Given the description of an element on the screen output the (x, y) to click on. 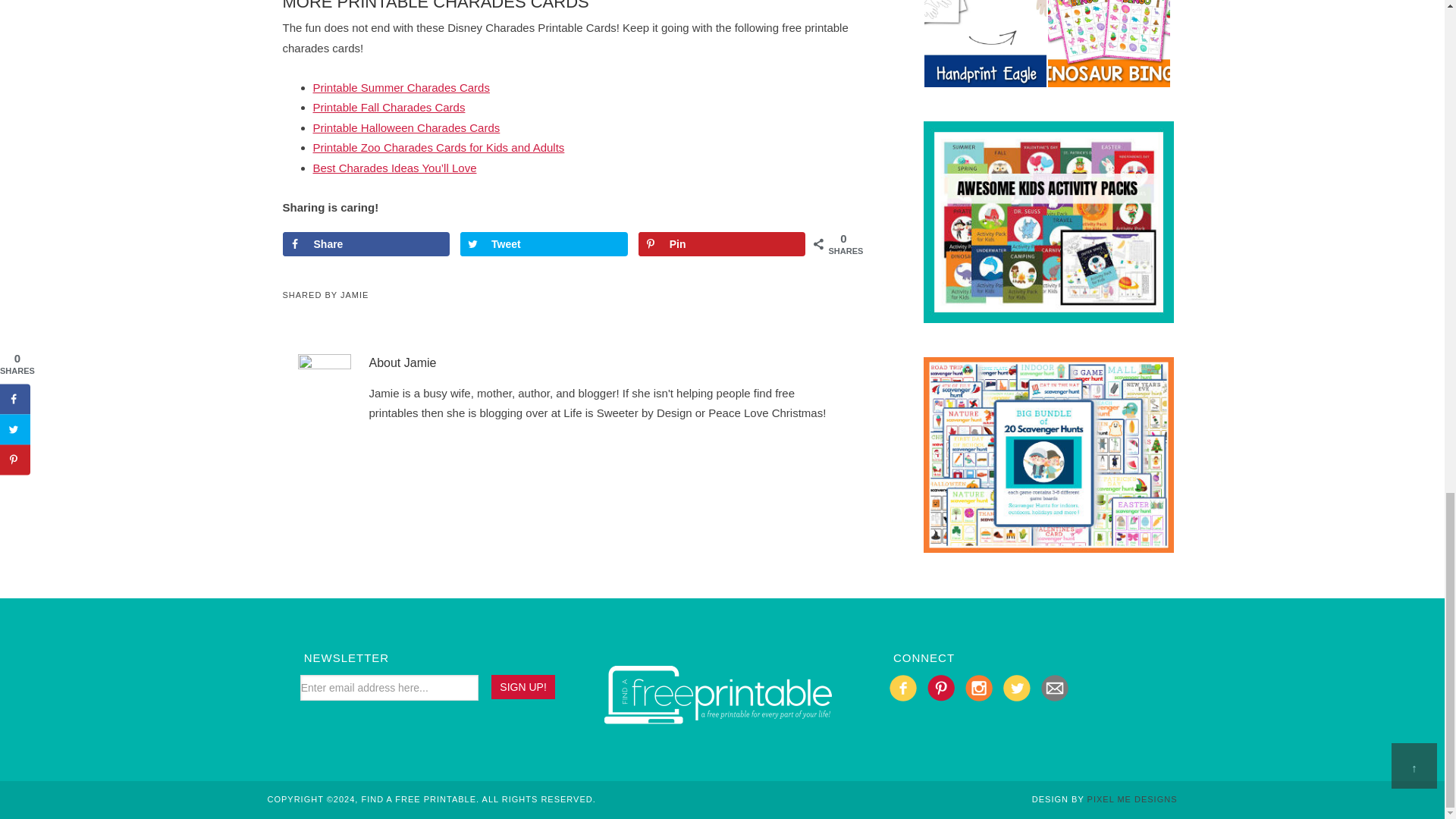
Enter email address here... (389, 687)
Eagle Handprint Craft for Kids (985, 79)
Save to Pinterest (722, 243)
Sign Up! (523, 686)
Share on Twitter (543, 243)
Share on Facebook (365, 243)
Dino Bingo (1109, 79)
